Given the description of an element on the screen output the (x, y) to click on. 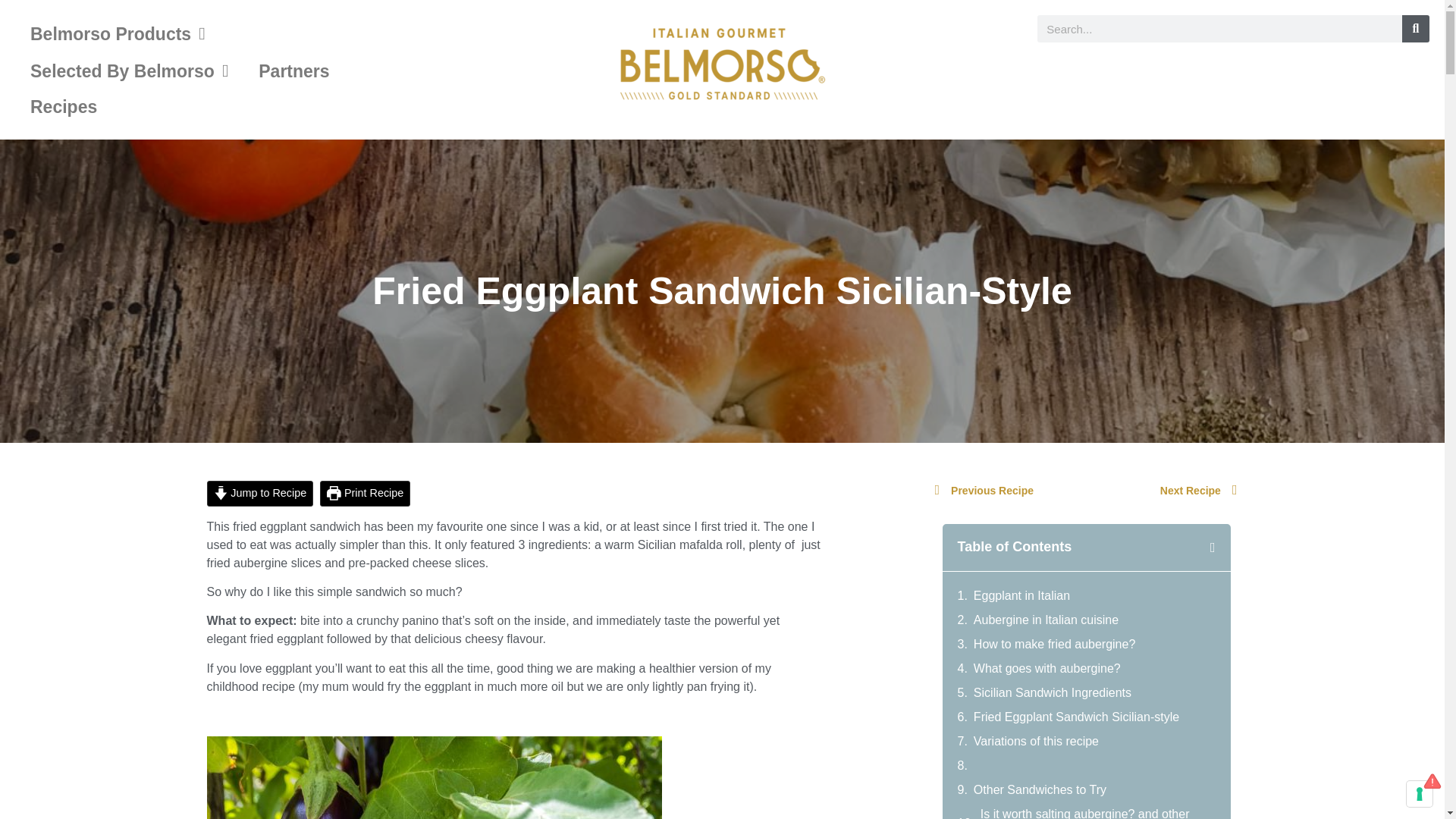
Partners (293, 70)
Print Recipe (365, 493)
Recipes (63, 106)
Belmorso Products (117, 33)
Selected By Belmorso (128, 70)
Jump to Recipe (259, 493)
